Given the description of an element on the screen output the (x, y) to click on. 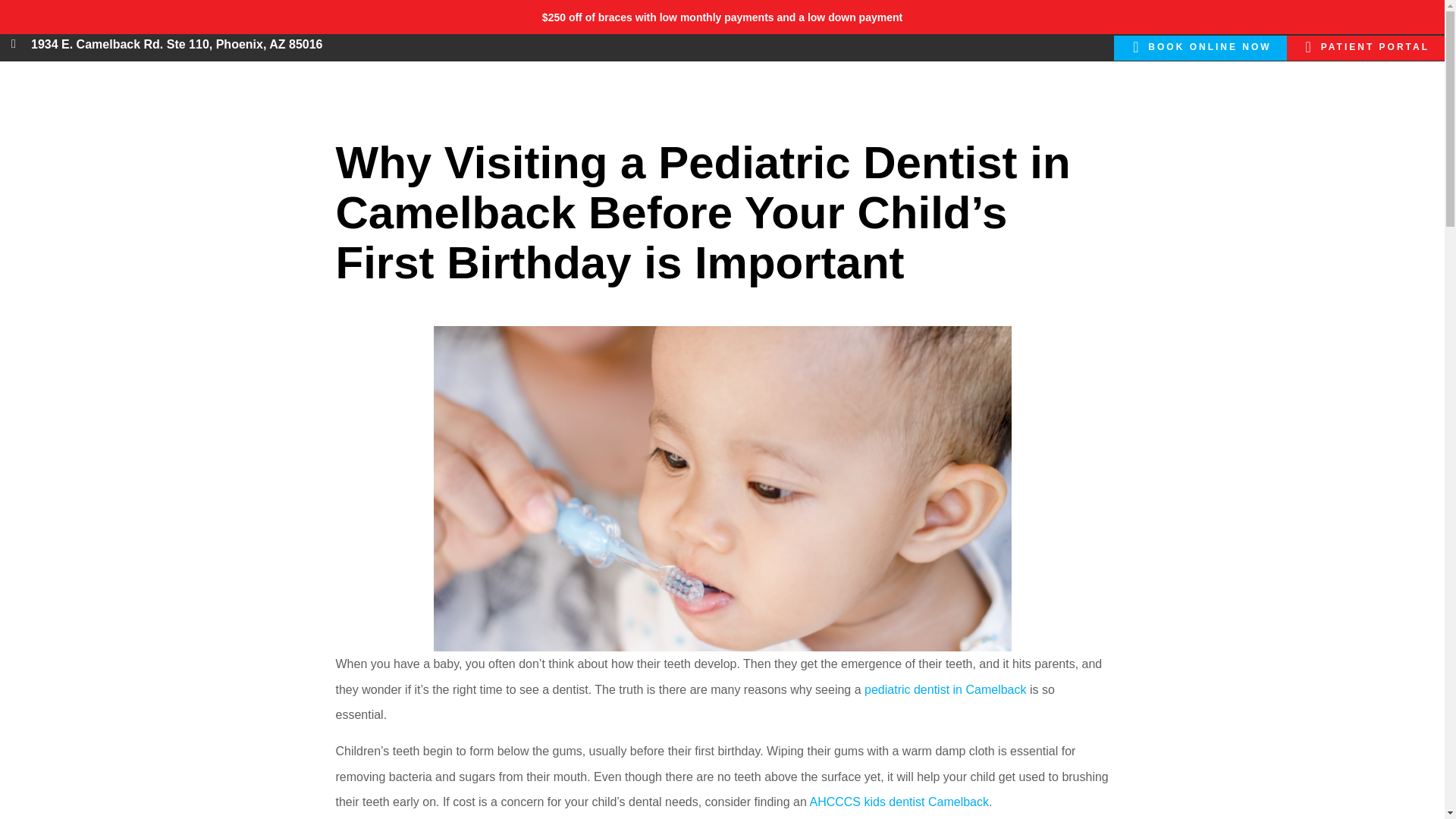
PATIENT PORTAL (1365, 48)
1934 E. Camelback Rd. Ste 110, Phoenix, AZ 85016 (175, 43)
BOOK ONLINE NOW (1199, 48)
